Given the description of an element on the screen output the (x, y) to click on. 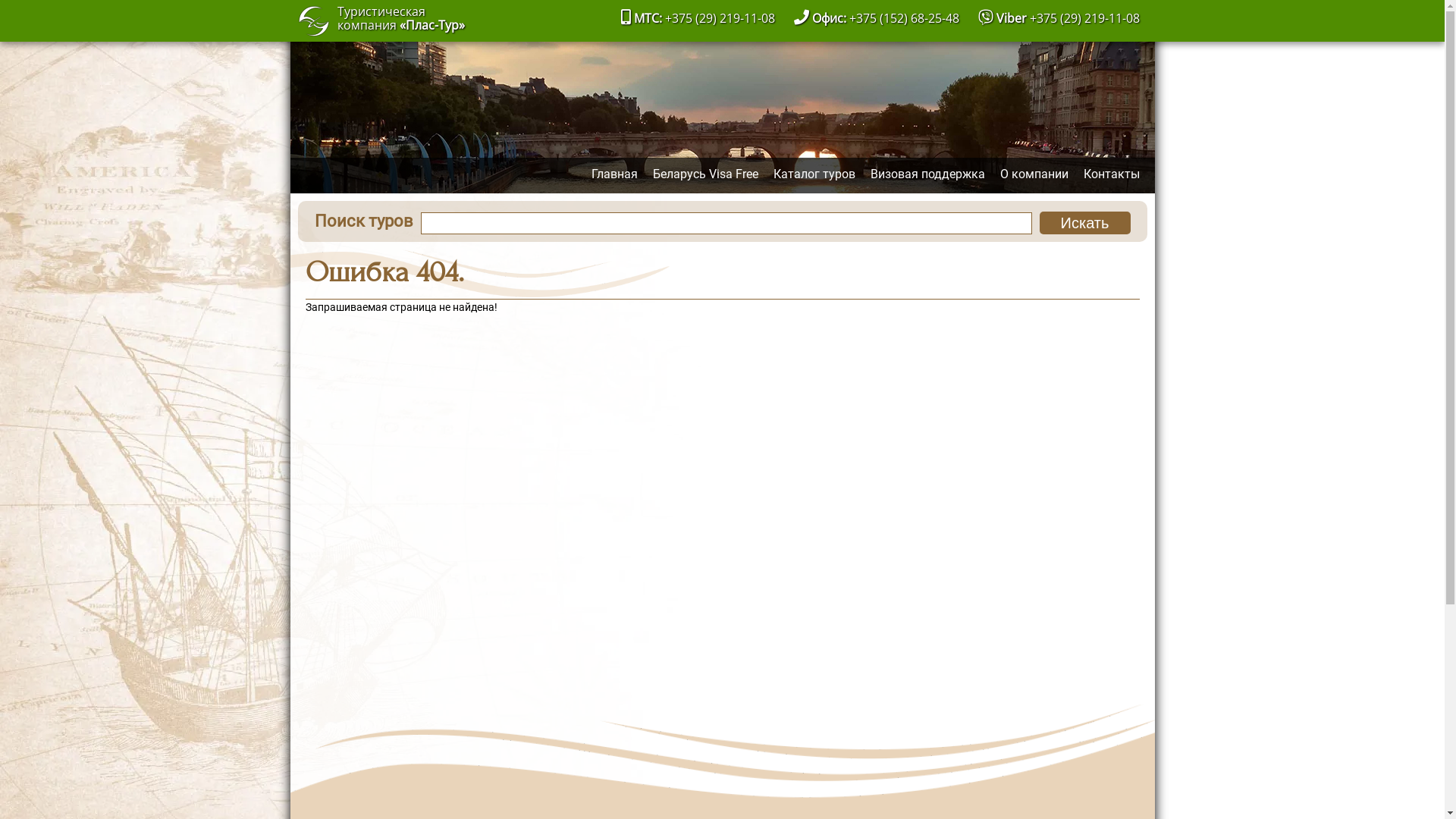
+375 (29) 219-11-08 Element type: text (1084, 18)
